Given the description of an element on the screen output the (x, y) to click on. 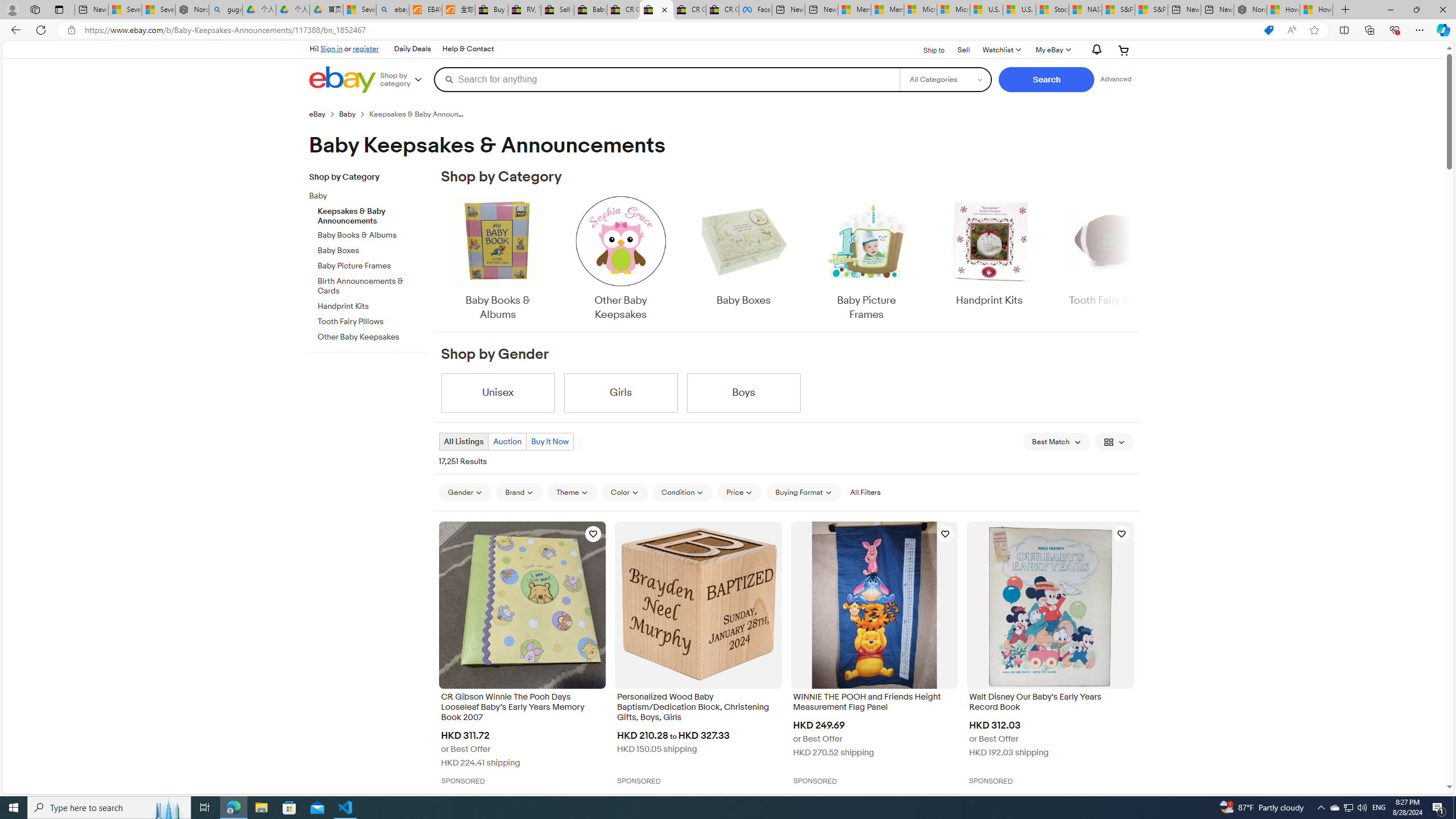
S&P 500, Nasdaq end lower, weighed by Nvidia dip | Watch (1150, 9)
Sign in (331, 48)
AutomationID: gh-eb-Alerts (1094, 49)
Color (624, 492)
Address and search bar (669, 29)
Baby Picture Frames (866, 258)
Theme (572, 492)
Unisex (497, 392)
Keepsakes & Baby Announcements (371, 214)
Go to previous slide (439, 258)
All Listings Current view (464, 441)
Baby (362, 196)
